Given the description of an element on the screen output the (x, y) to click on. 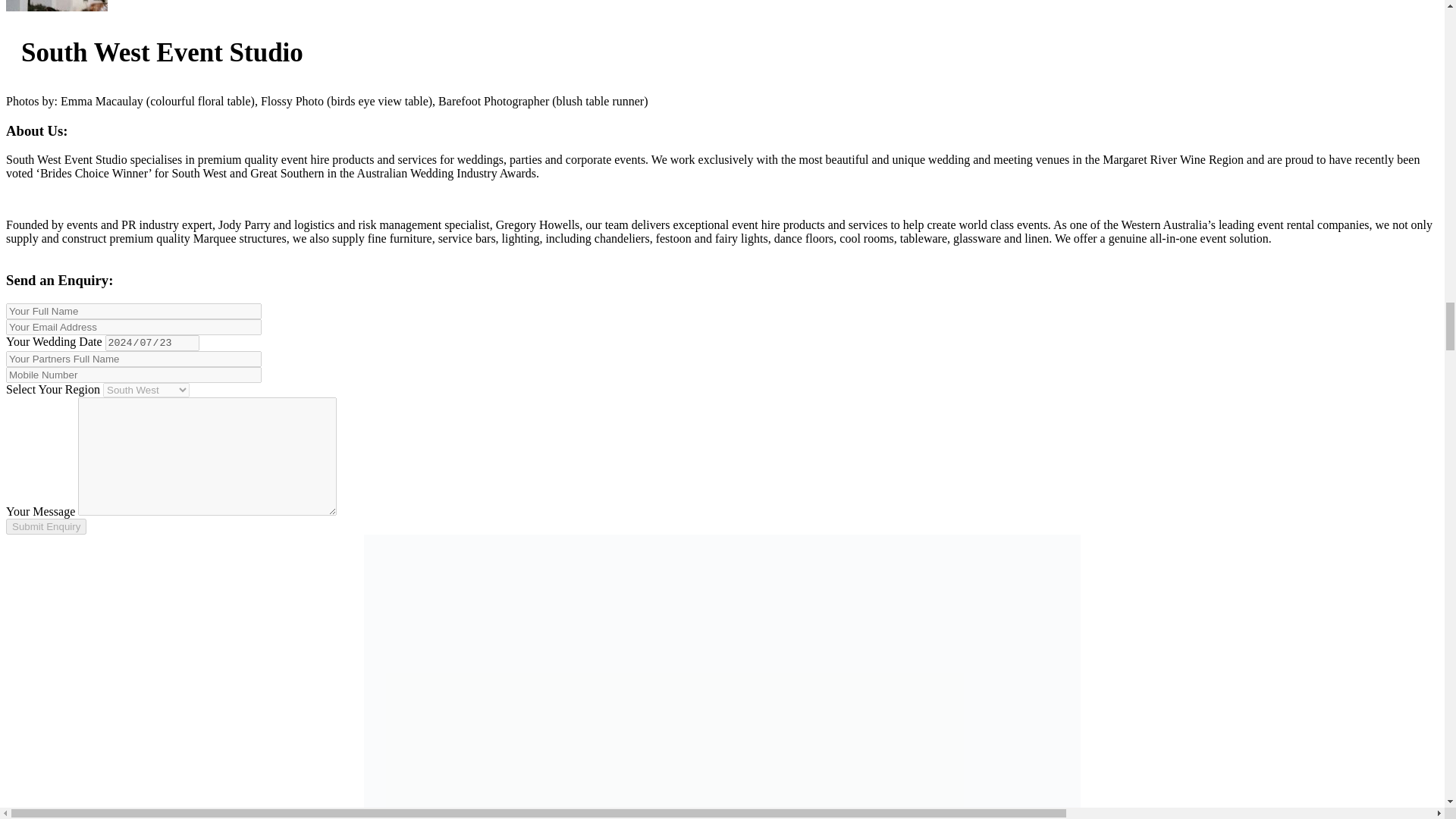
2024-07-23 (151, 342)
Submit Enquiry (45, 526)
